Given the description of an element on the screen output the (x, y) to click on. 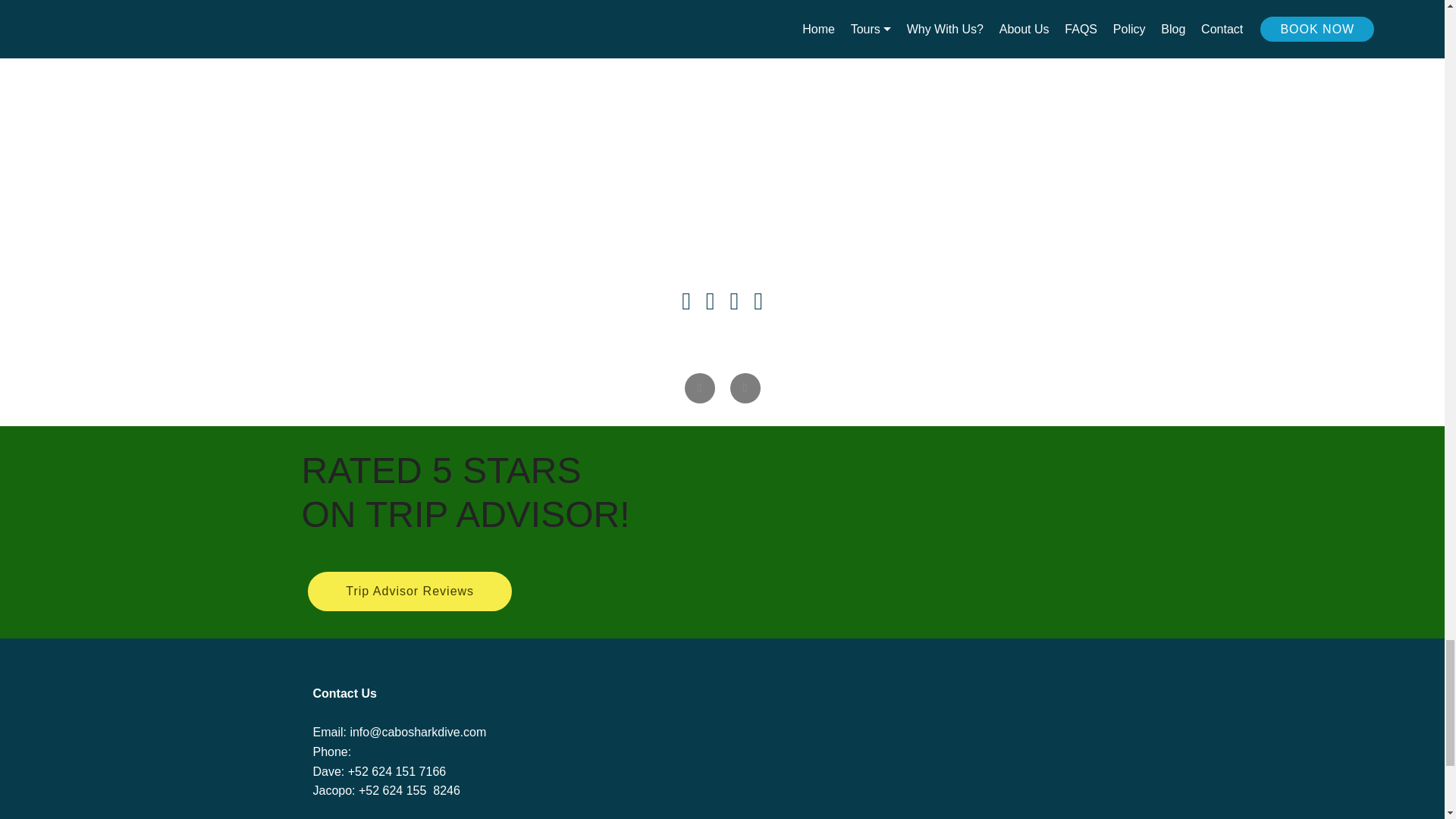
Trip Advisor Reviews (409, 590)
Next (744, 388)
Previous (699, 388)
